Given the description of an element on the screen output the (x, y) to click on. 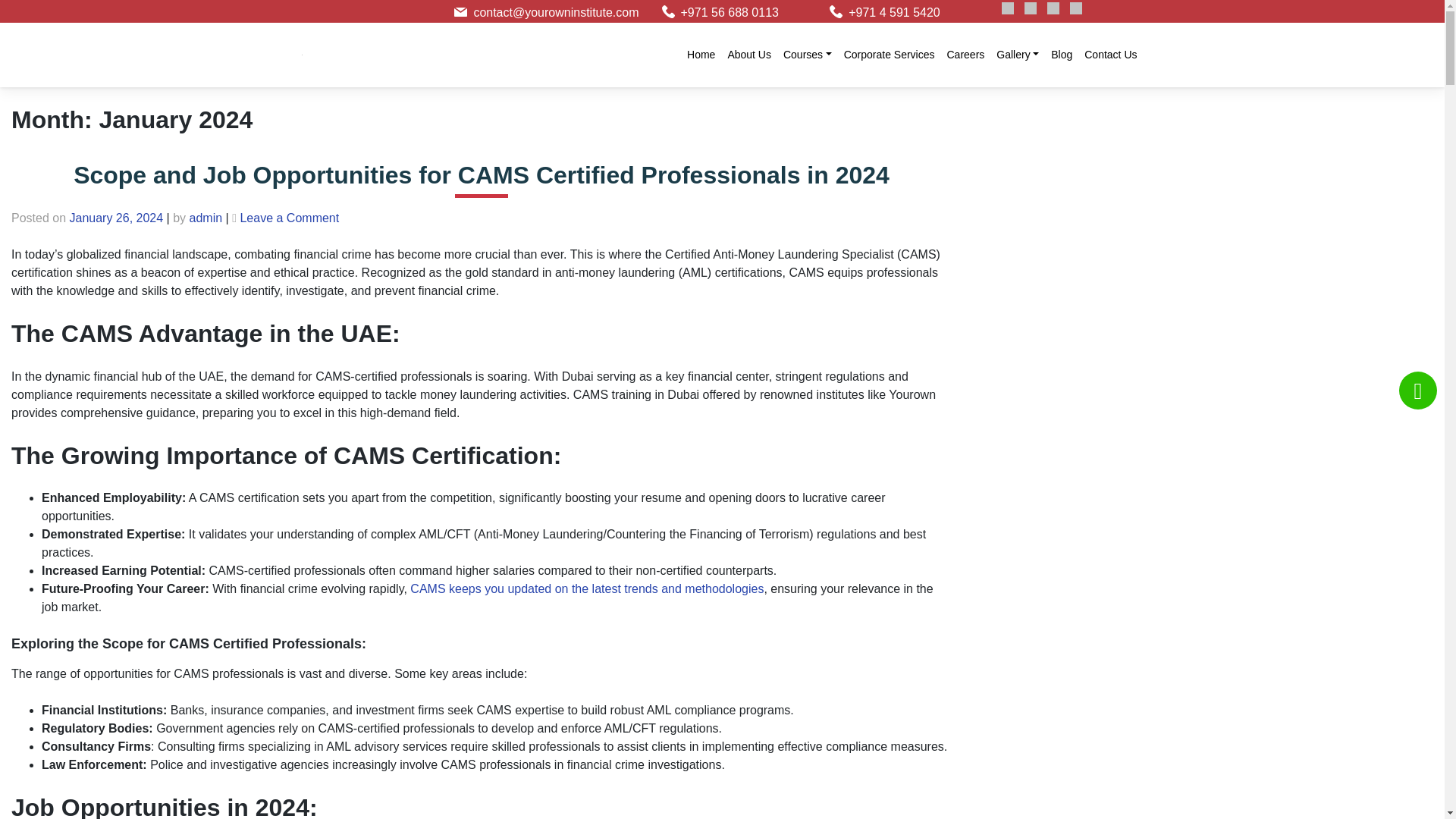
Leave a Comment (289, 217)
Contact Us (1110, 54)
Courses (807, 54)
Courses (807, 54)
Contact Us On WhatsApp (1418, 390)
Corporate Services (889, 54)
admin (205, 217)
January 26, 2024 (116, 217)
Contact Us (1110, 54)
Corporate Services (889, 54)
